Given the description of an element on the screen output the (x, y) to click on. 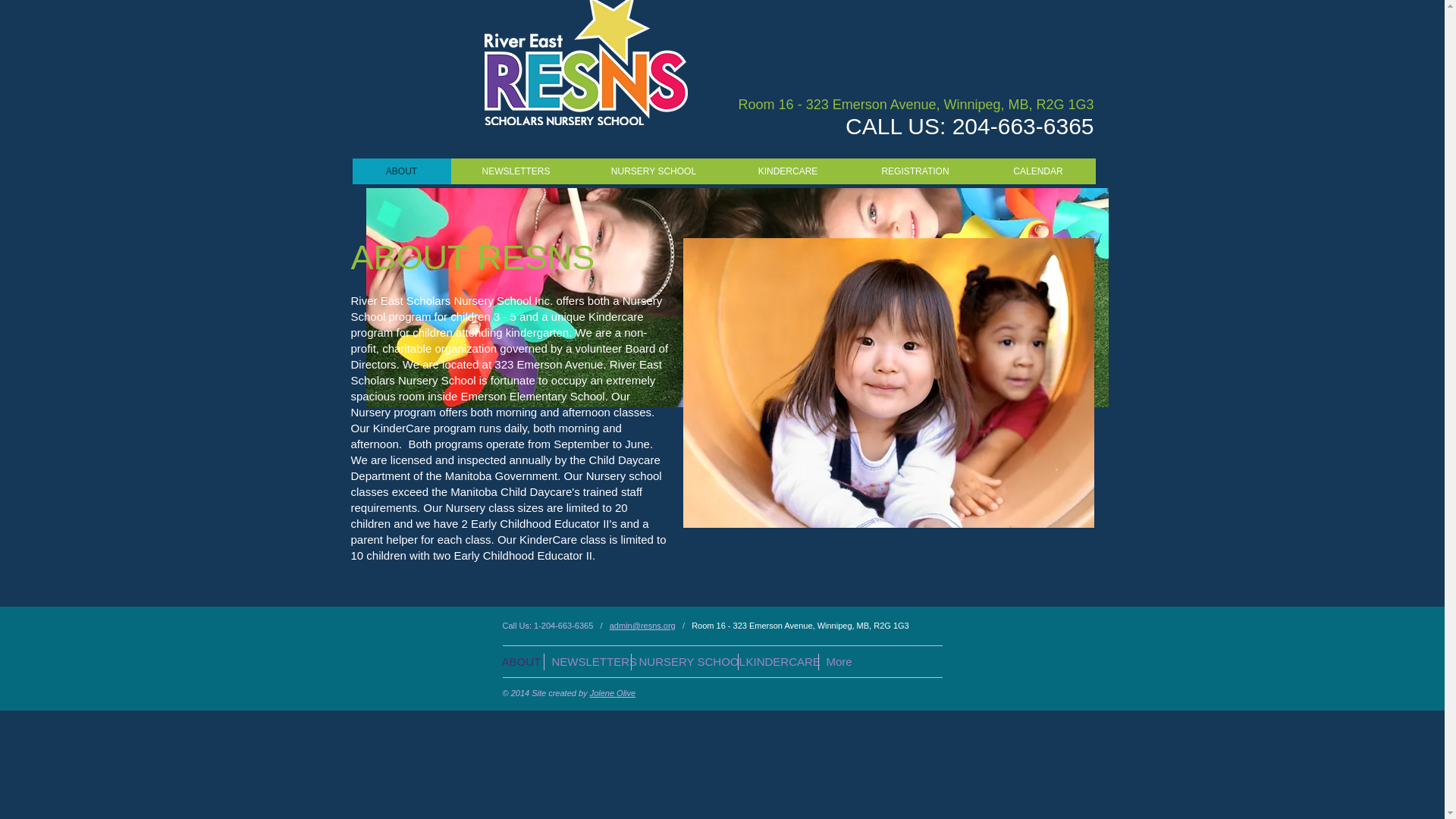
Jolene Olive (612, 692)
NURSERY SCHOOL (652, 171)
NEWSLETTERS (586, 661)
REGISTRATION (913, 171)
NEWSLETTERS (514, 171)
KINDERCARE (776, 661)
Kids in Slide (887, 382)
ABOUT (519, 661)
CALENDAR (1038, 171)
NURSERY SCHOOL (684, 661)
ABOUT (400, 171)
KINDERCARE (788, 171)
